Given the description of an element on the screen output the (x, y) to click on. 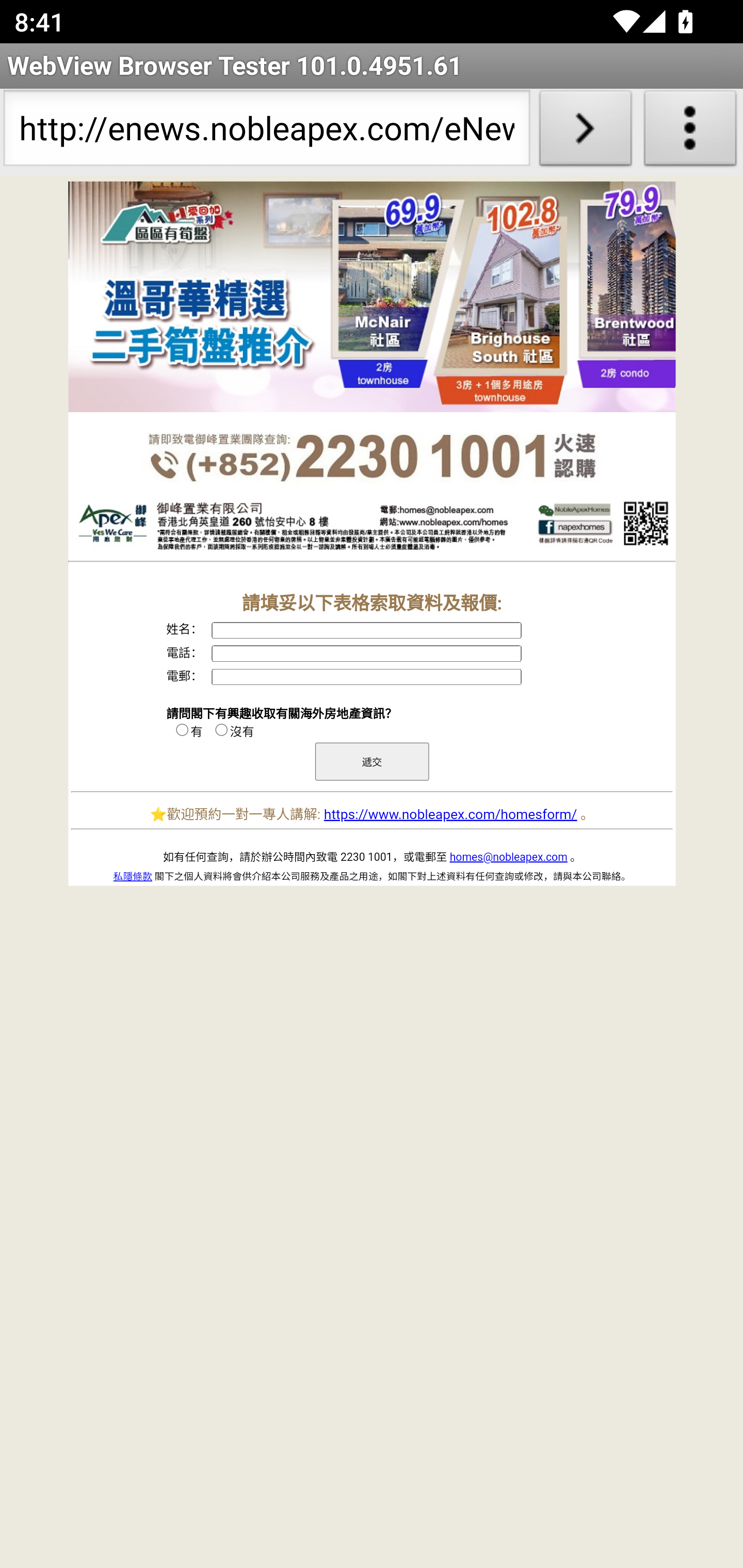
Load URL (585, 132)
About WebView (690, 132)
Default (372, 296)
tel:22301001 (372, 456)
homes (372, 526)
有 (181, 728)
沒有 (220, 728)
遞交 (371, 760)
https://www.nobleapex.com/homesform/ (450, 814)
homes@nobleapex.com (508, 856)
私隱條款 (132, 876)
